Given the description of an element on the screen output the (x, y) to click on. 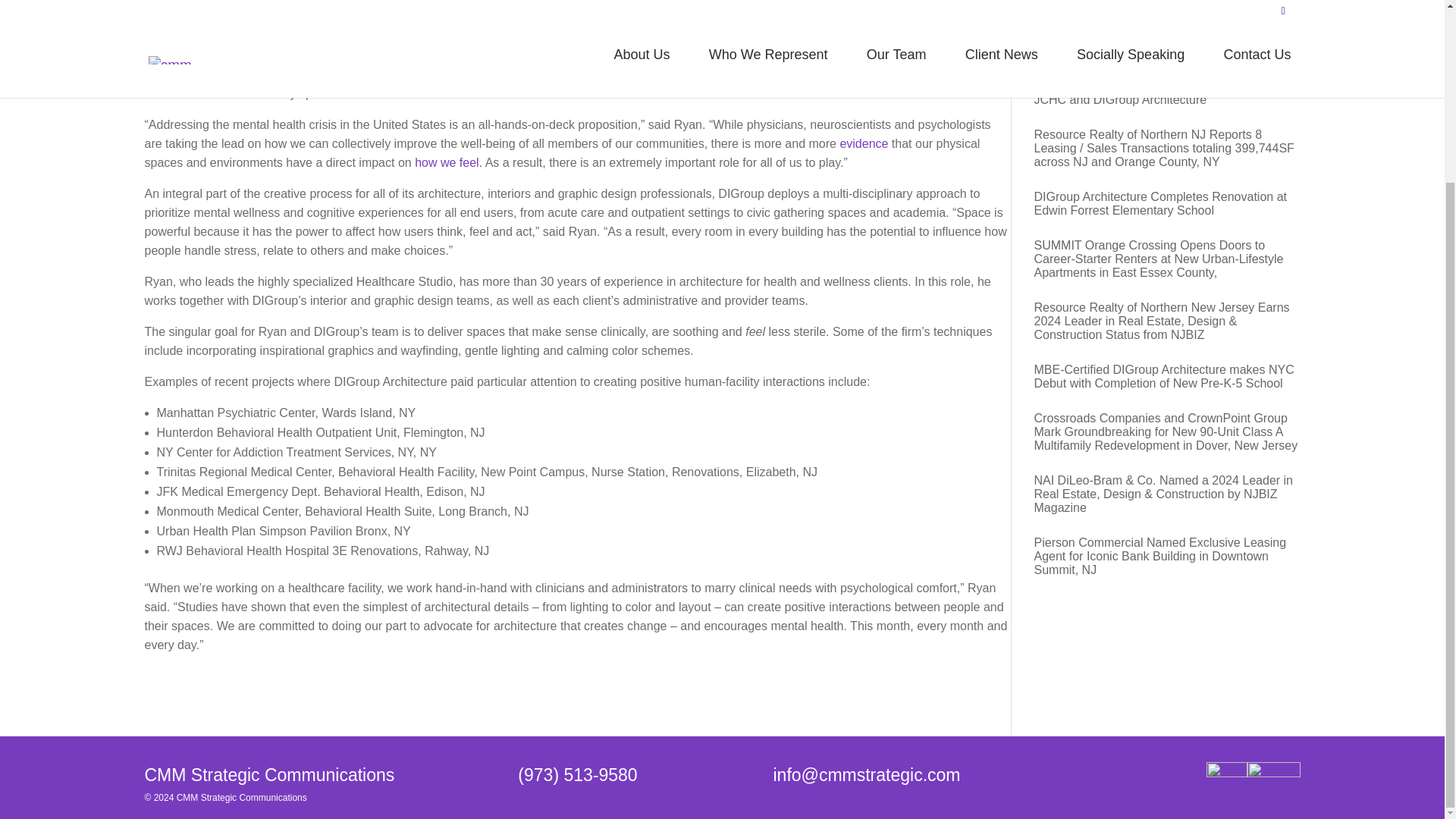
evidence (864, 143)
DIGroup Architecture (819, 55)
how we feel (446, 162)
